Given the description of an element on the screen output the (x, y) to click on. 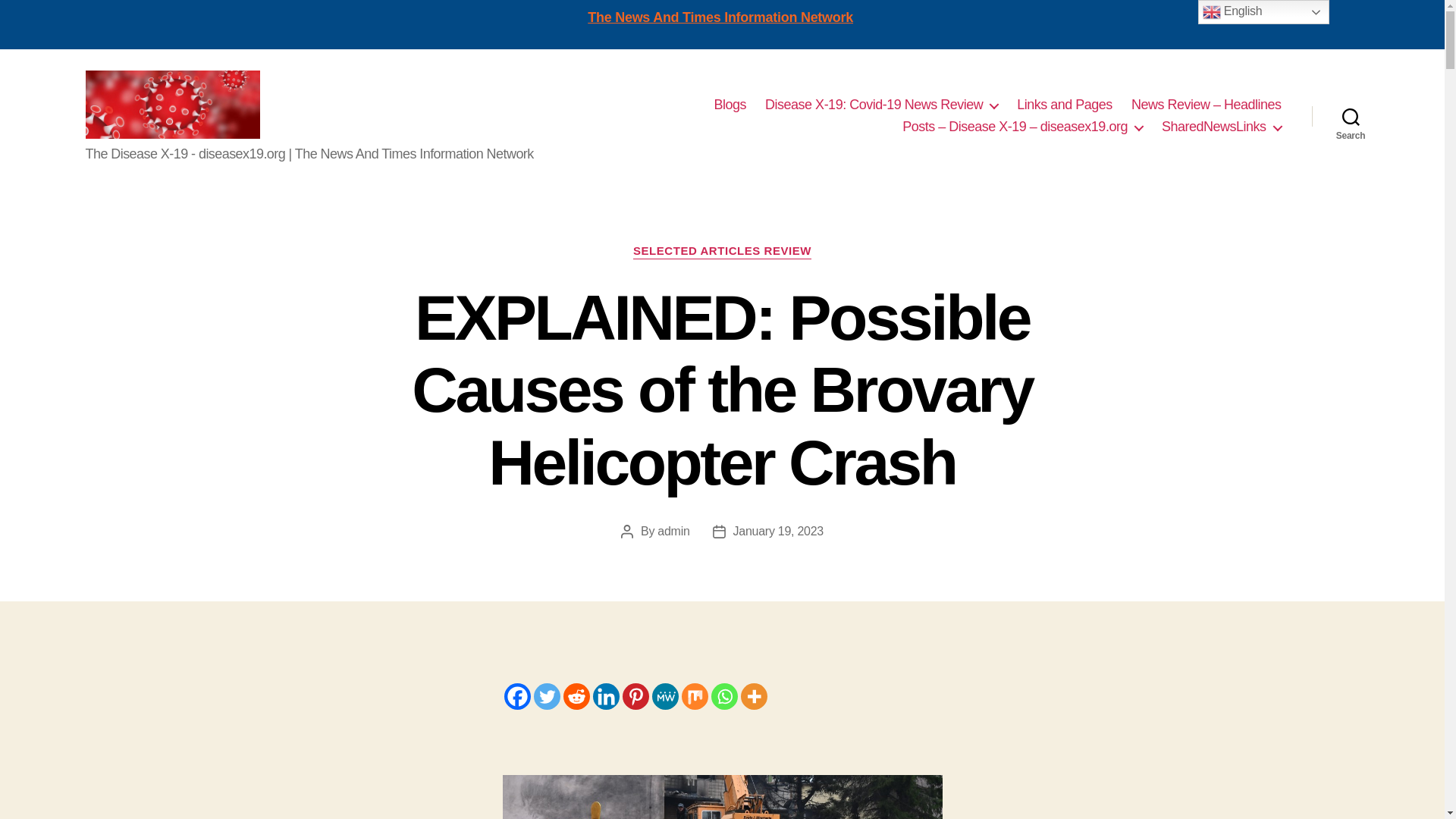
Blogs (730, 105)
More (753, 696)
Reddit (575, 696)
Links and Pages (1064, 105)
Linkedin (606, 696)
Search (1350, 115)
Mix (694, 696)
MeWe (665, 696)
The News And Times Information Network (720, 17)
SharedNewsLinks (1221, 126)
Whatsapp (724, 696)
Disease X-19: Covid-19 News Review (881, 105)
Facebook (516, 696)
SELECTED ARTICLES REVIEW (721, 251)
Pinterest (634, 696)
